Given the description of an element on the screen output the (x, y) to click on. 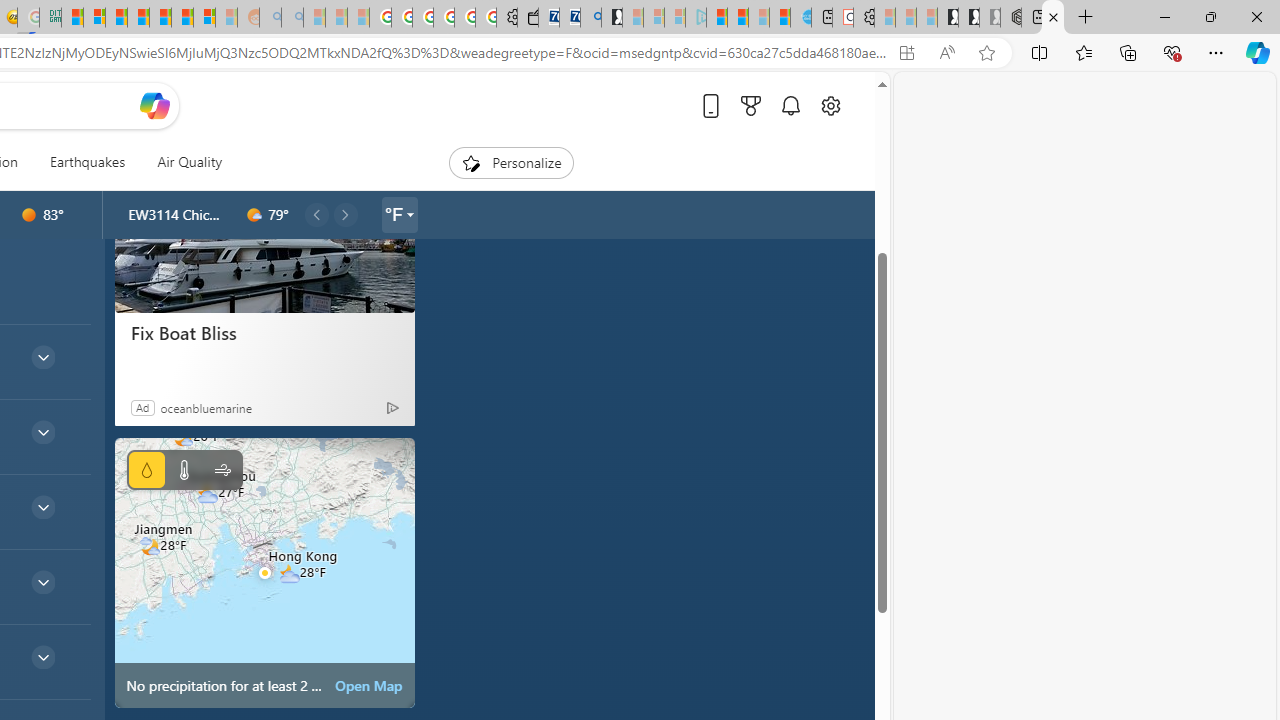
App available. Install Microsoft Start Weather (906, 53)
Fix Boat Bliss (264, 332)
locationBar/triangle (409, 214)
common/thinArrow (42, 656)
static map image of vector map (263, 572)
Air Quality (189, 162)
